Given the description of an element on the screen output the (x, y) to click on. 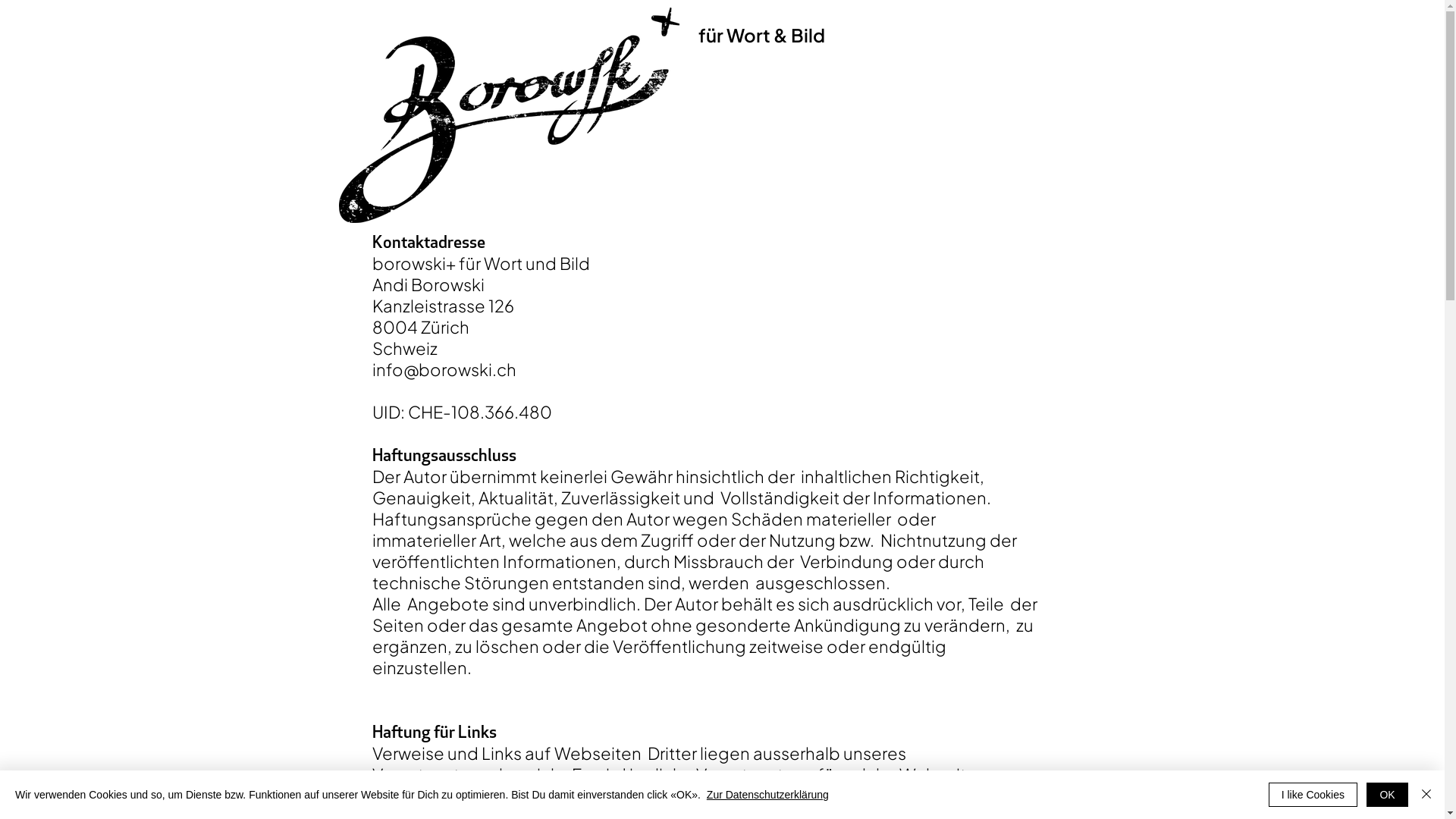
info@borowski.ch Element type: text (443, 368)
& Bild Element type: text (799, 34)
I like Cookies Element type: text (1312, 794)
OK Element type: text (1387, 794)
